Given the description of an element on the screen output the (x, y) to click on. 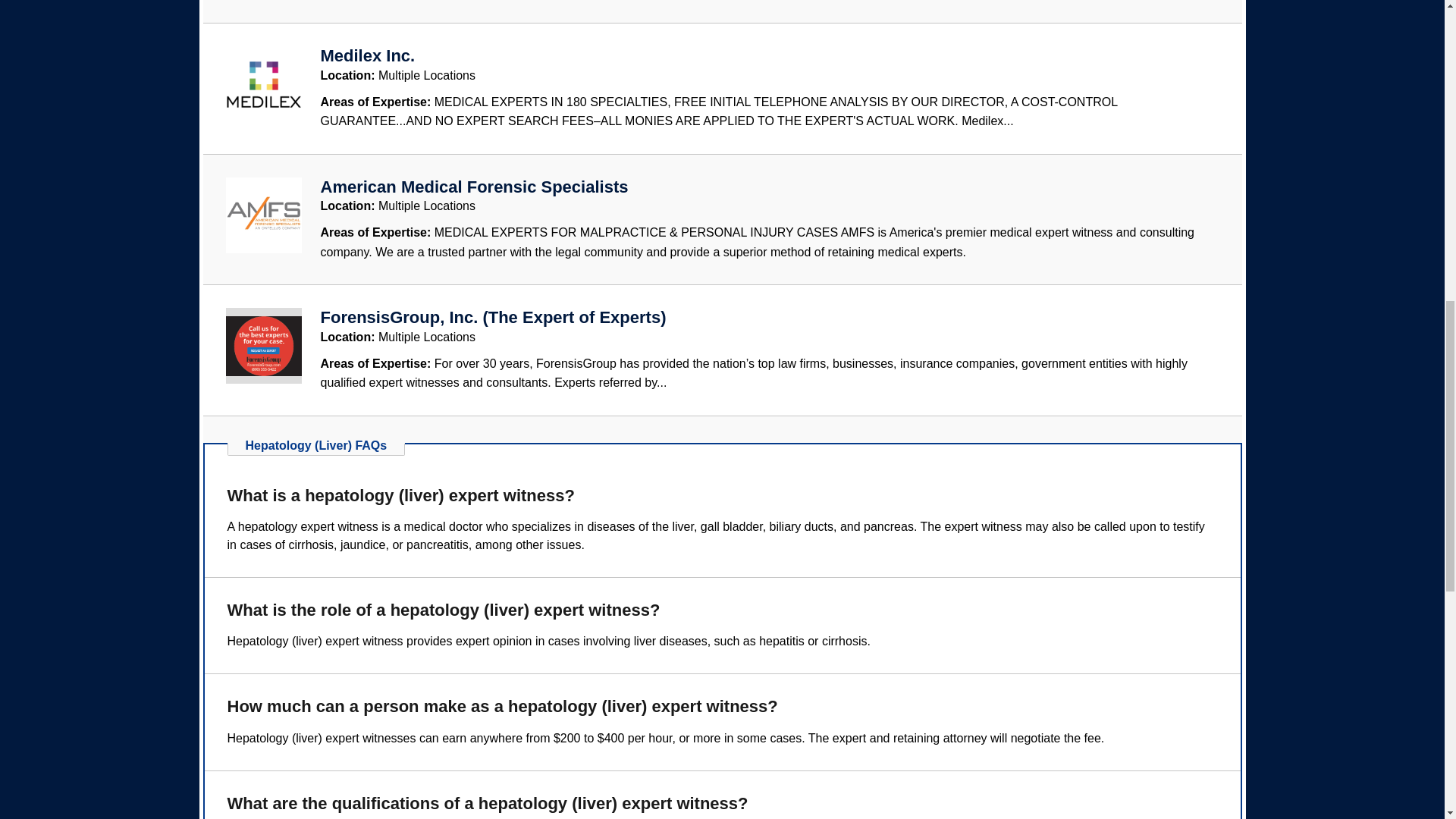
American Medical Forensic Specialists (473, 186)
Medilex Inc. (367, 55)
Medilex Inc. (367, 55)
American Medical Forensic Specialists (473, 186)
